Given the description of an element on the screen output the (x, y) to click on. 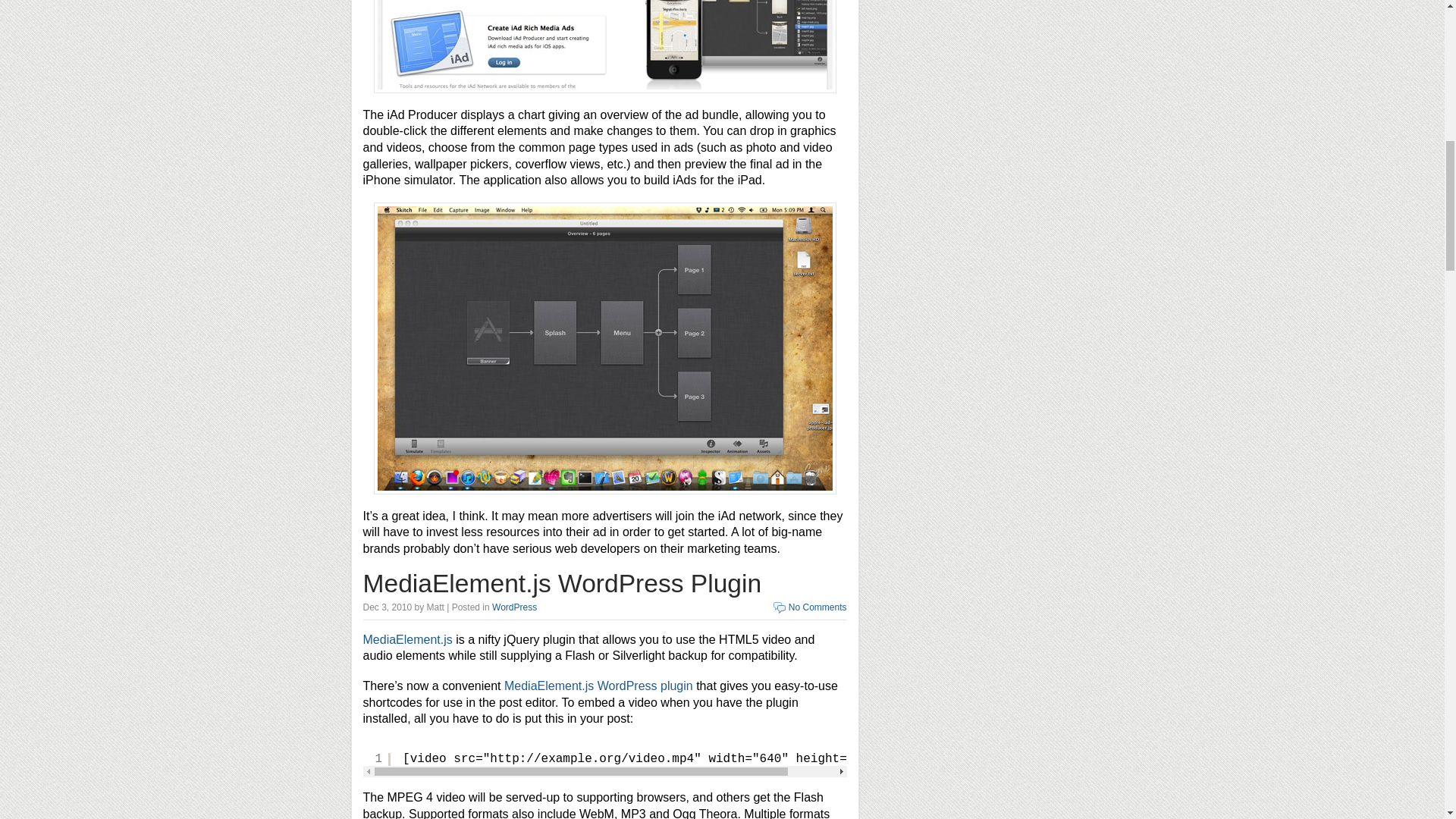
MediaElement.js WordPress plugin (598, 685)
MediaElement.js WordPress Plugin (561, 583)
WordPress (514, 606)
MediaElement.js (406, 639)
Permanent Link to "MediaElement.js WordPress Plugin" (561, 583)
No Comments (818, 606)
Apple iAd Producer Intro (603, 46)
